Given the description of an element on the screen output the (x, y) to click on. 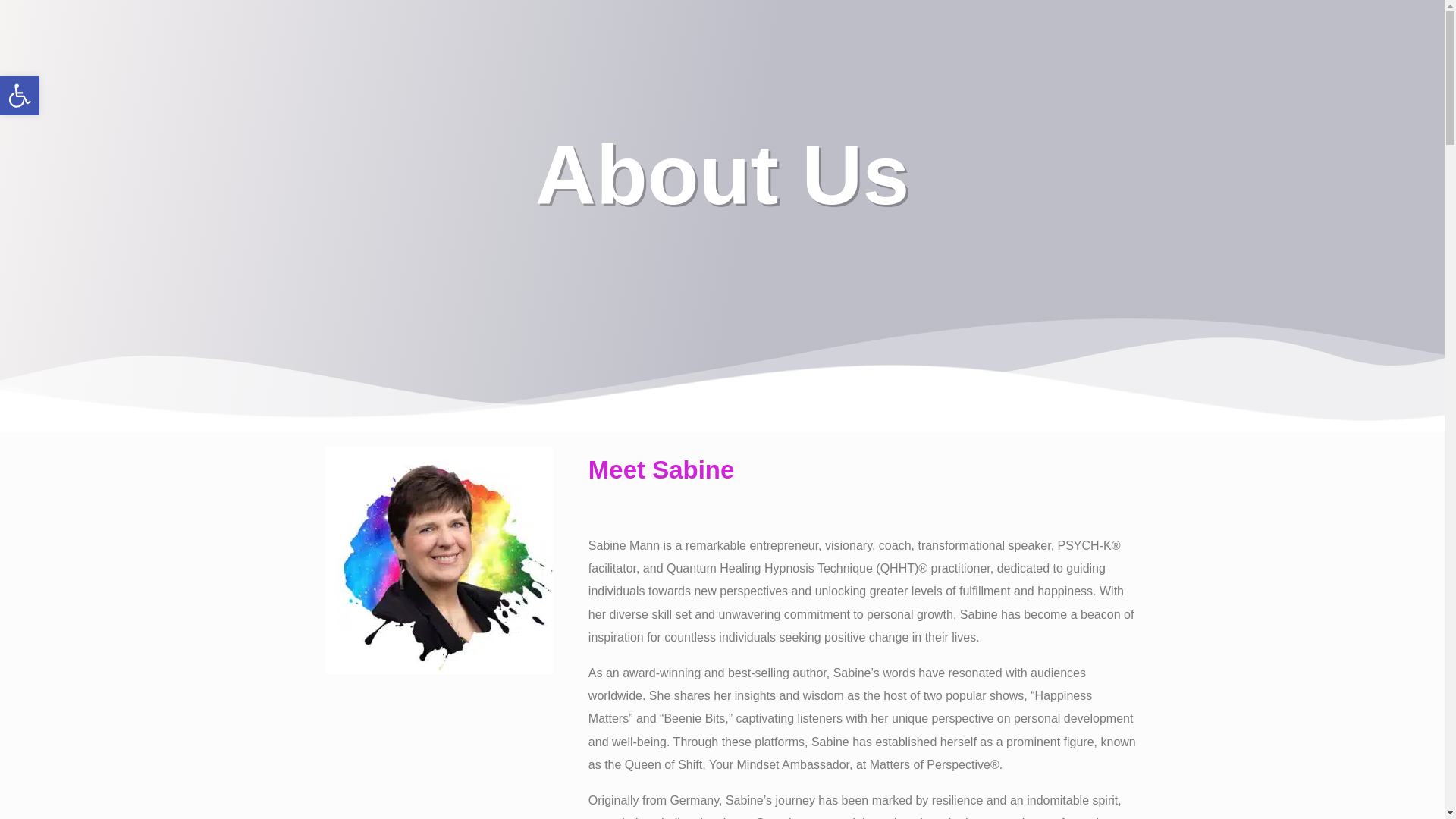
Accessibility Tools (19, 95)
Accessibility Tools (19, 95)
